Given the description of an element on the screen output the (x, y) to click on. 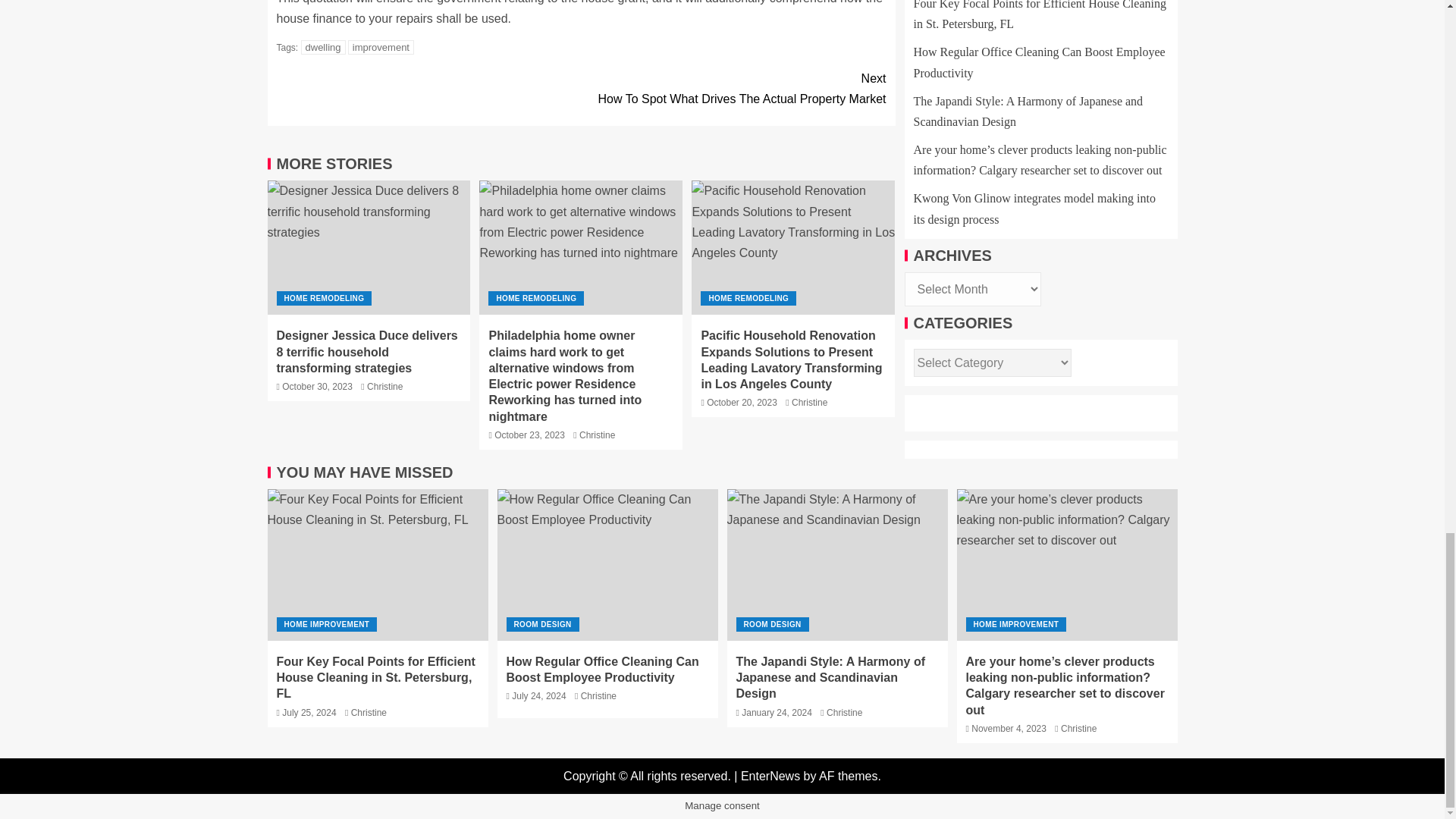
HOME REMODELING (748, 298)
Christine (384, 386)
improvement (380, 47)
Christine (732, 87)
Christine (596, 434)
dwelling (809, 402)
